Given the description of an element on the screen output the (x, y) to click on. 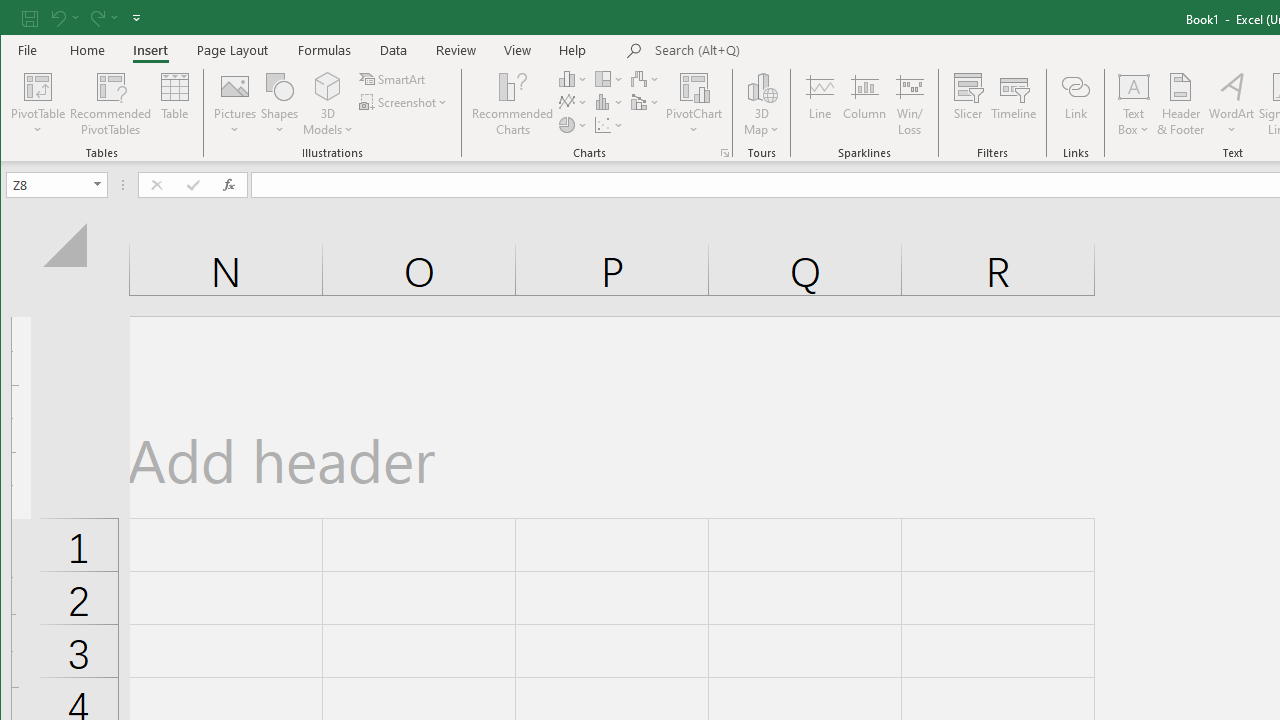
Text Box (1133, 104)
Pictures (235, 104)
Screenshot (404, 101)
3D Map (762, 104)
Column (864, 104)
Draw Horizontal Text Box (1133, 86)
Table (174, 104)
